Given the description of an element on the screen output the (x, y) to click on. 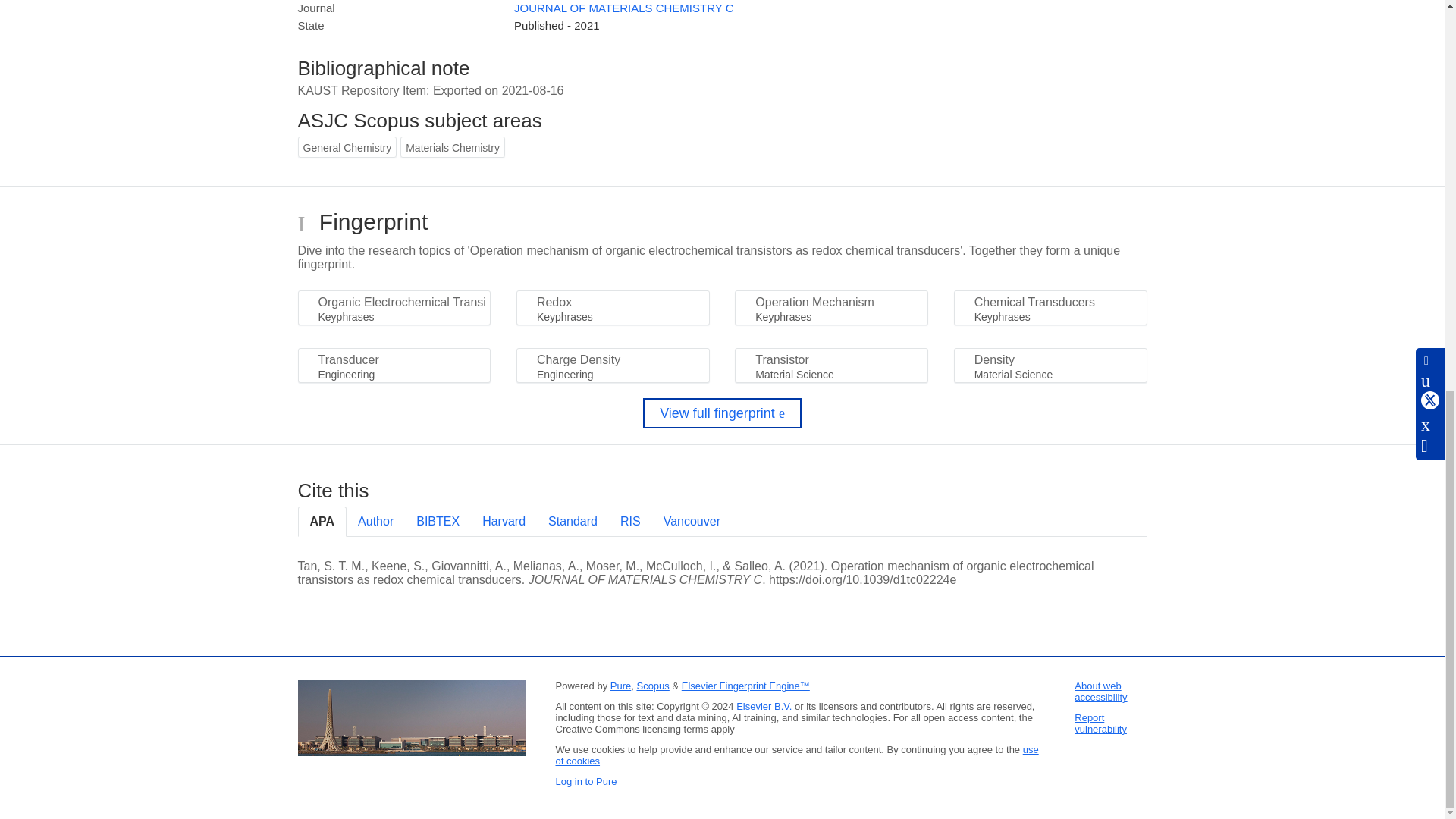
JOURNAL OF MATERIALS CHEMISTRY C (623, 7)
View full fingerprint (722, 413)
